Given the description of an element on the screen output the (x, y) to click on. 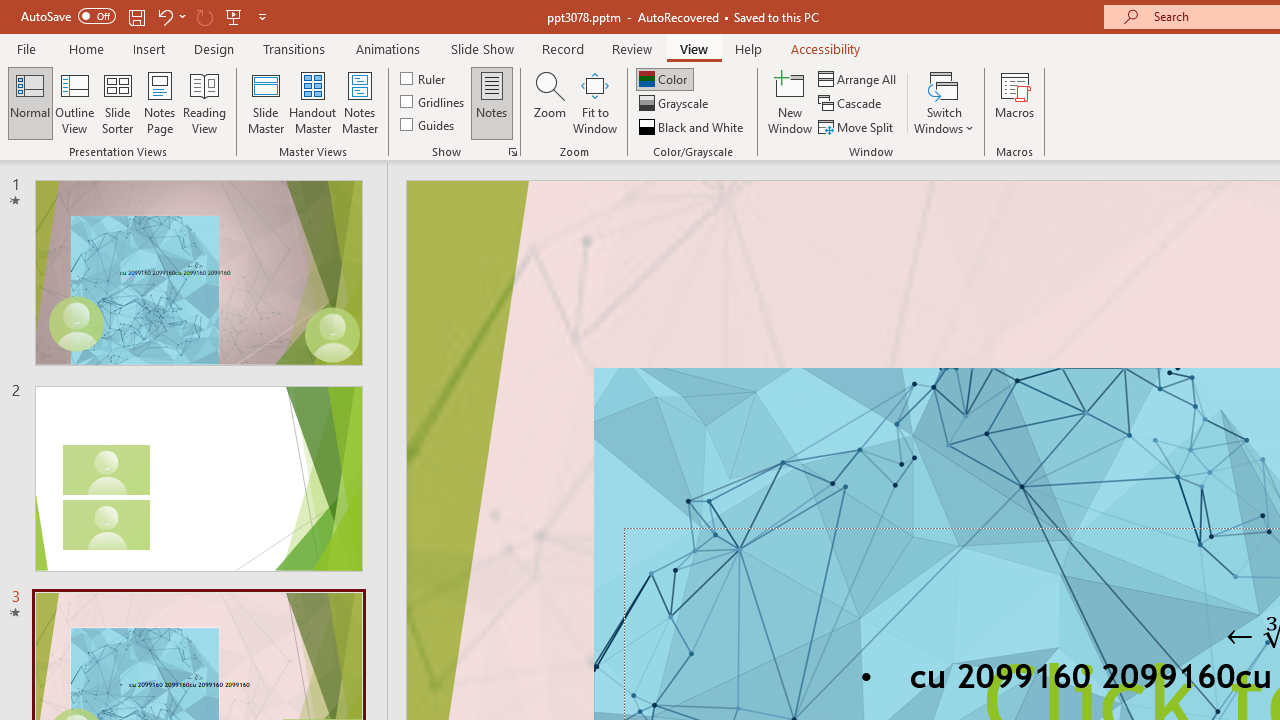
Switch Windows (943, 102)
AutoSave (68, 16)
Ruler (423, 78)
